Given the description of an element on the screen output the (x, y) to click on. 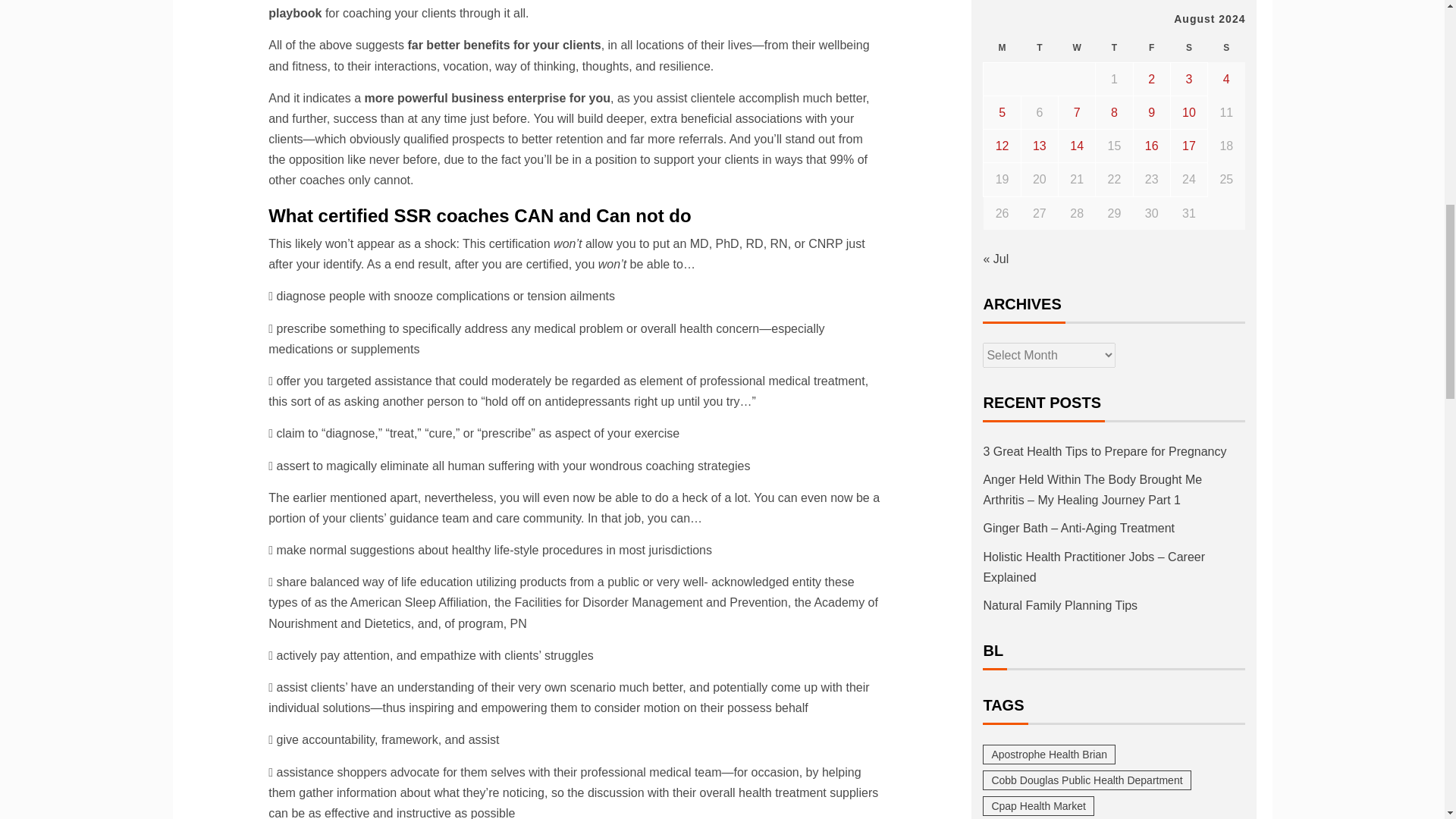
Tuesday (1039, 48)
Saturday (1188, 48)
Monday (1002, 48)
Thursday (1114, 48)
Wednesday (1077, 48)
Friday (1151, 48)
